Given the description of an element on the screen output the (x, y) to click on. 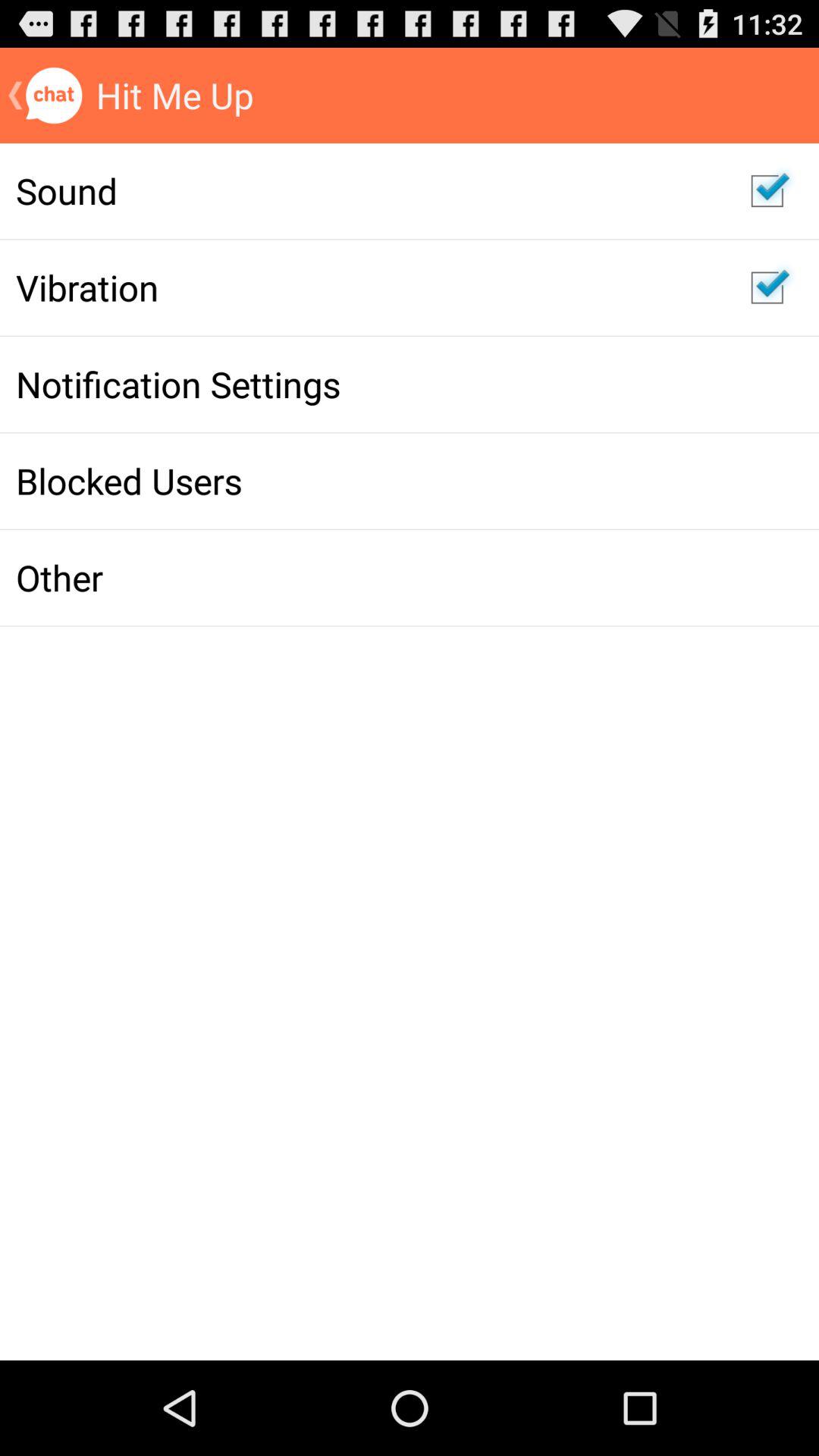
open the sound item (367, 190)
